Given the description of an element on the screen output the (x, y) to click on. 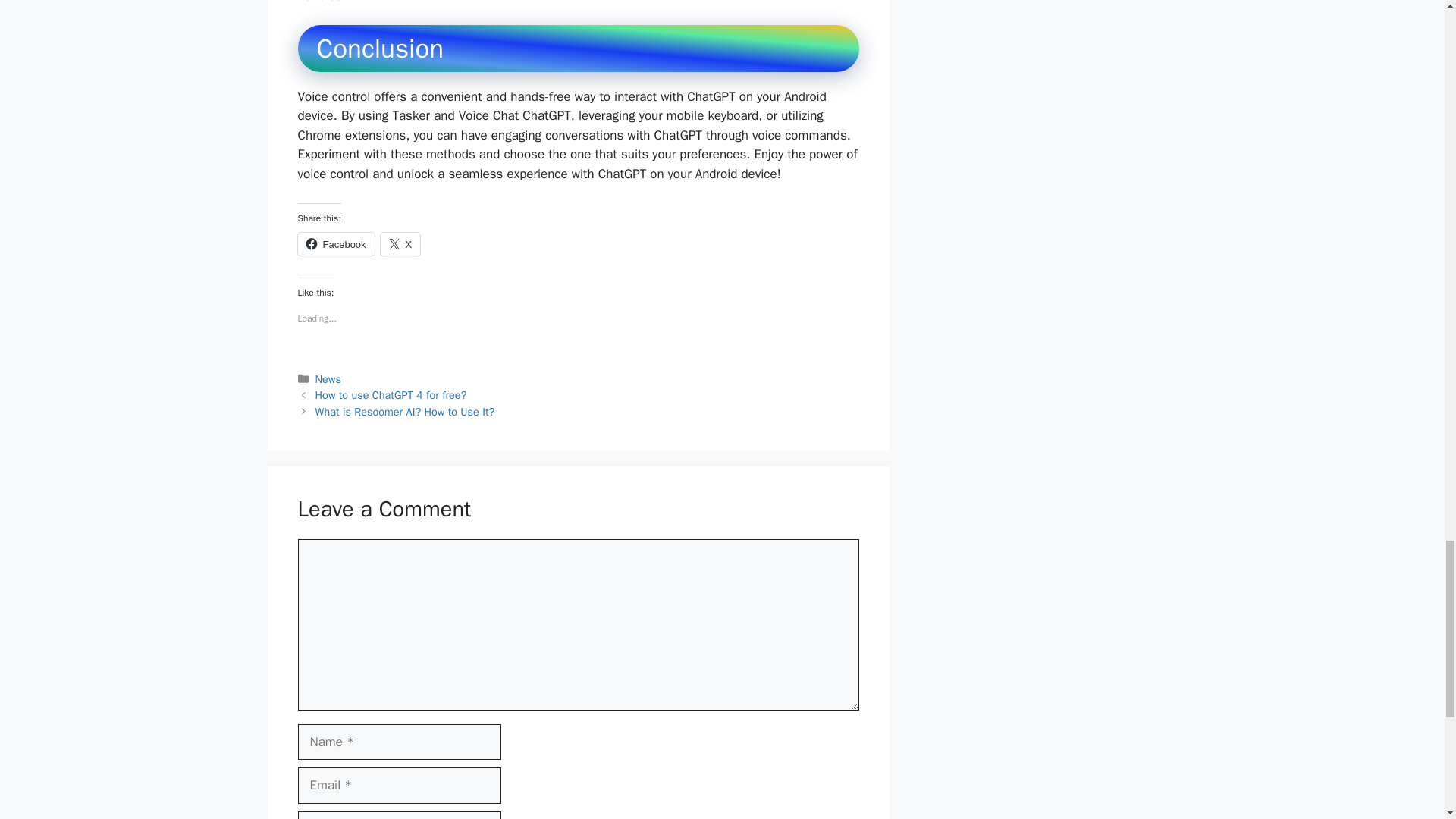
News (327, 378)
Facebook (335, 243)
What is Resoomer AI? How to Use It? (405, 411)
How to use ChatGPT 4 for free? (391, 395)
Click to share on Facebook (335, 243)
Click to share on X (400, 243)
X (400, 243)
